Given the description of an element on the screen output the (x, y) to click on. 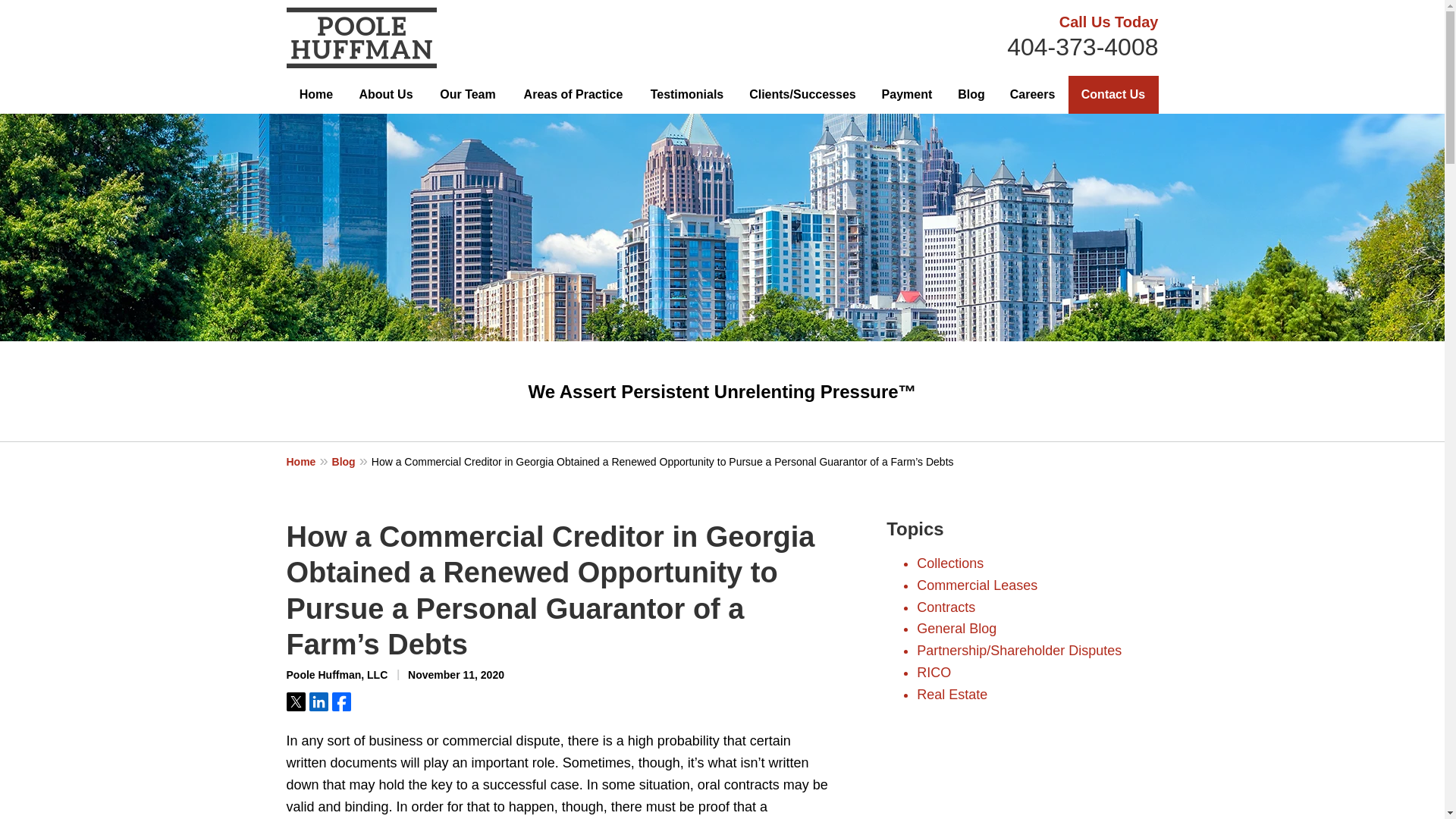
Commercial Leases (976, 585)
Areas of Practice (572, 94)
404-373-4008 (1082, 46)
Careers (1032, 94)
Share (340, 701)
Our Team (467, 94)
About Us (385, 94)
Share (318, 701)
Contact Us (1113, 94)
Call Us Today (1108, 21)
Collections (950, 563)
General Blog (956, 628)
Home (316, 94)
Blog (351, 461)
Payment (905, 94)
